Given the description of an element on the screen output the (x, y) to click on. 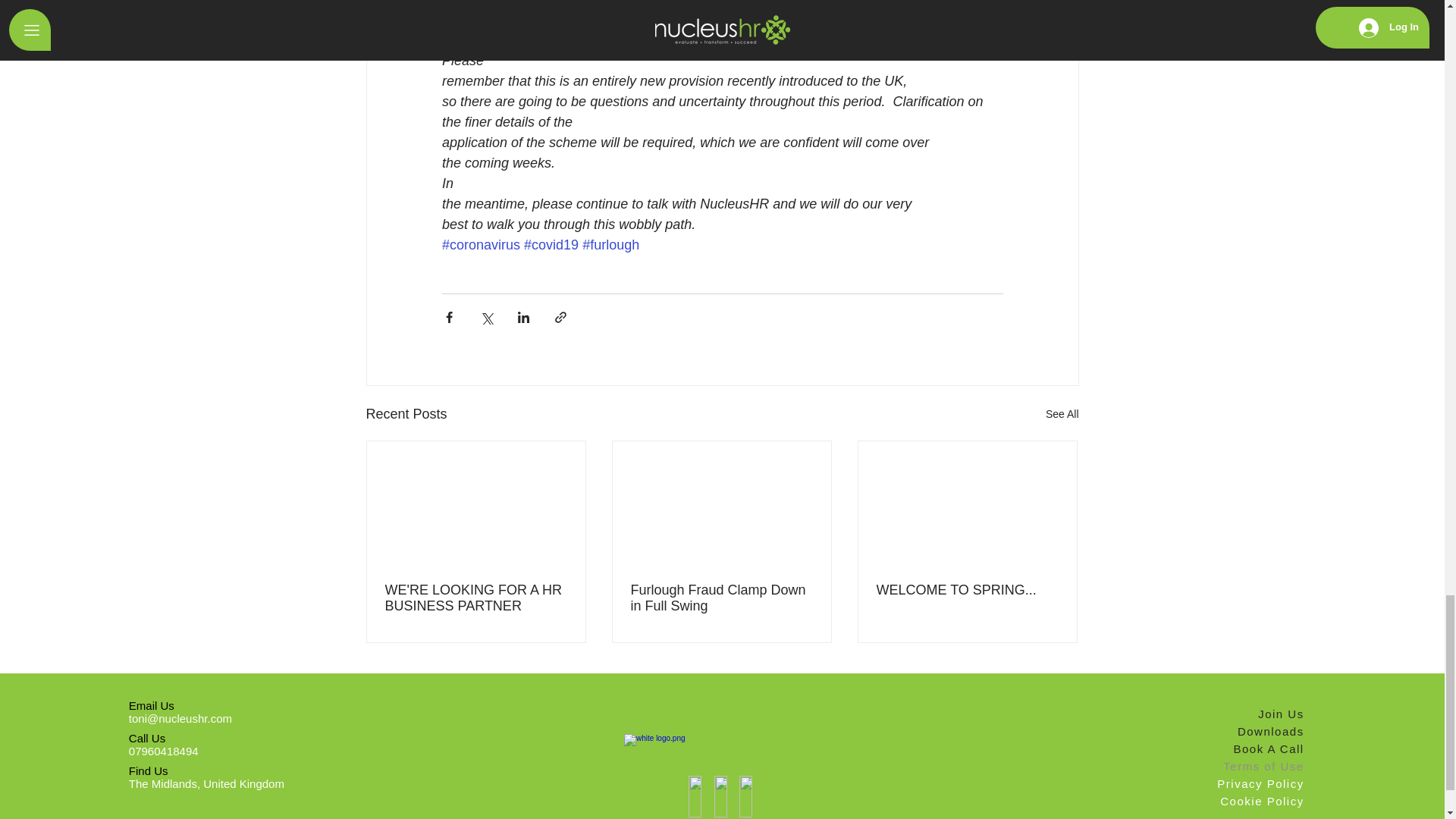
07960418494 (163, 750)
WELCOME TO SPRING... (967, 590)
WE'RE LOOKING FOR A HR BUSINESS PARTNER (476, 598)
Downloads (1253, 731)
Cookie Policy (1253, 800)
Privacy Policy (1253, 783)
Furlough Fraud Clamp Down in Full Swing (721, 598)
See All (1061, 414)
Terms of Use (1253, 765)
Book A Call (1253, 748)
